Given the description of an element on the screen output the (x, y) to click on. 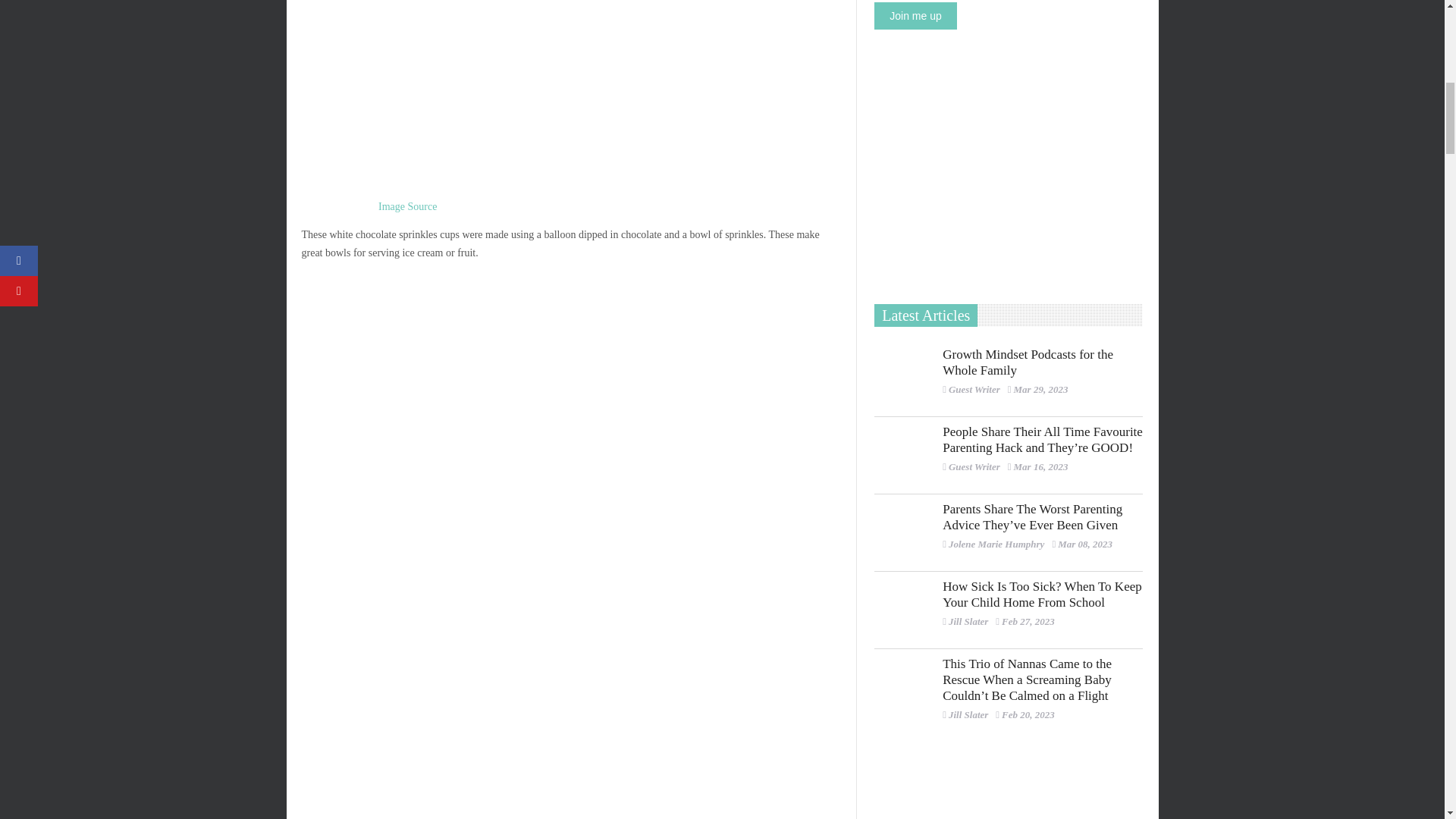
Image Source (407, 206)
Posts by Jill Slater (968, 621)
Growth Mindset Podcasts for the Whole Family (903, 377)
Posts by Jolene Marie Humphry (996, 543)
Join me up (915, 15)
Posts by Guest Writer (974, 389)
Posts by Jill Slater (968, 714)
Posts by Guest Writer (974, 466)
